Given the description of an element on the screen output the (x, y) to click on. 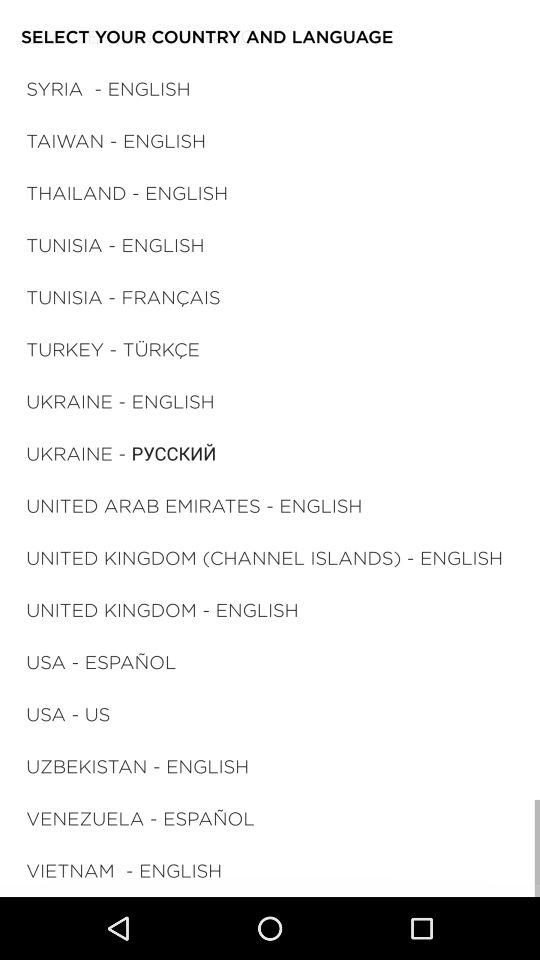
choose the uzbekistan - english (137, 765)
